Given the description of an element on the screen output the (x, y) to click on. 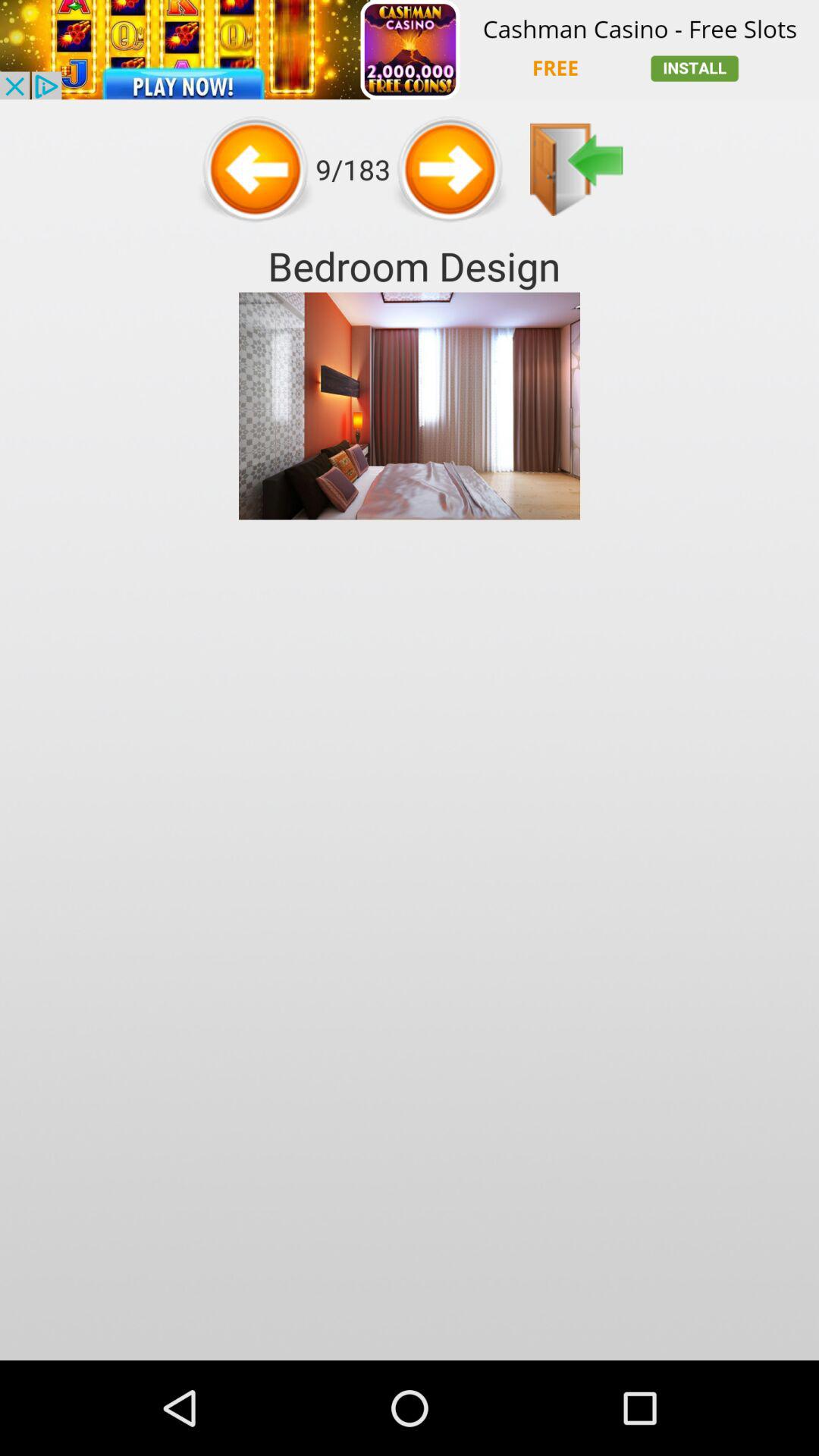
go to next (450, 169)
